Given the description of an element on the screen output the (x, y) to click on. 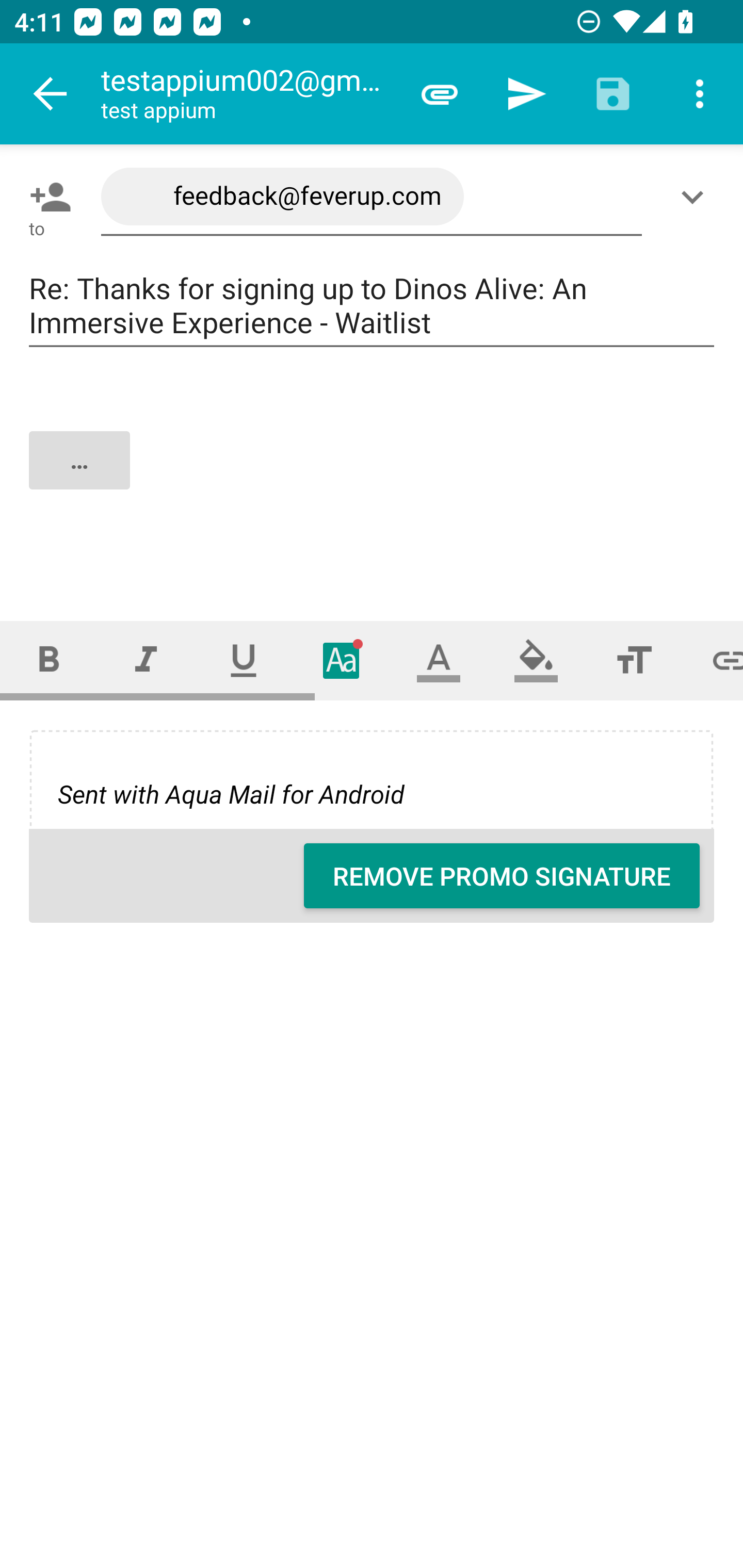
Navigate up (50, 93)
testappium002@gmail.com test appium (248, 93)
Attach (439, 93)
Send (525, 93)
Save (612, 93)
More options (699, 93)
feedback@feverup.com,  (371, 197)
Pick contact: To (46, 196)
Show/Add CC/BCC (696, 196)

…
 (372, 477)
Bold (48, 660)
Italic (145, 660)
Underline (243, 660)
Typeface (font) (341, 660)
Text color (438, 660)
Fill color (536, 660)
Font size (633, 660)
REMOVE PROMO SIGNATURE (501, 875)
